Given the description of an element on the screen output the (x, y) to click on. 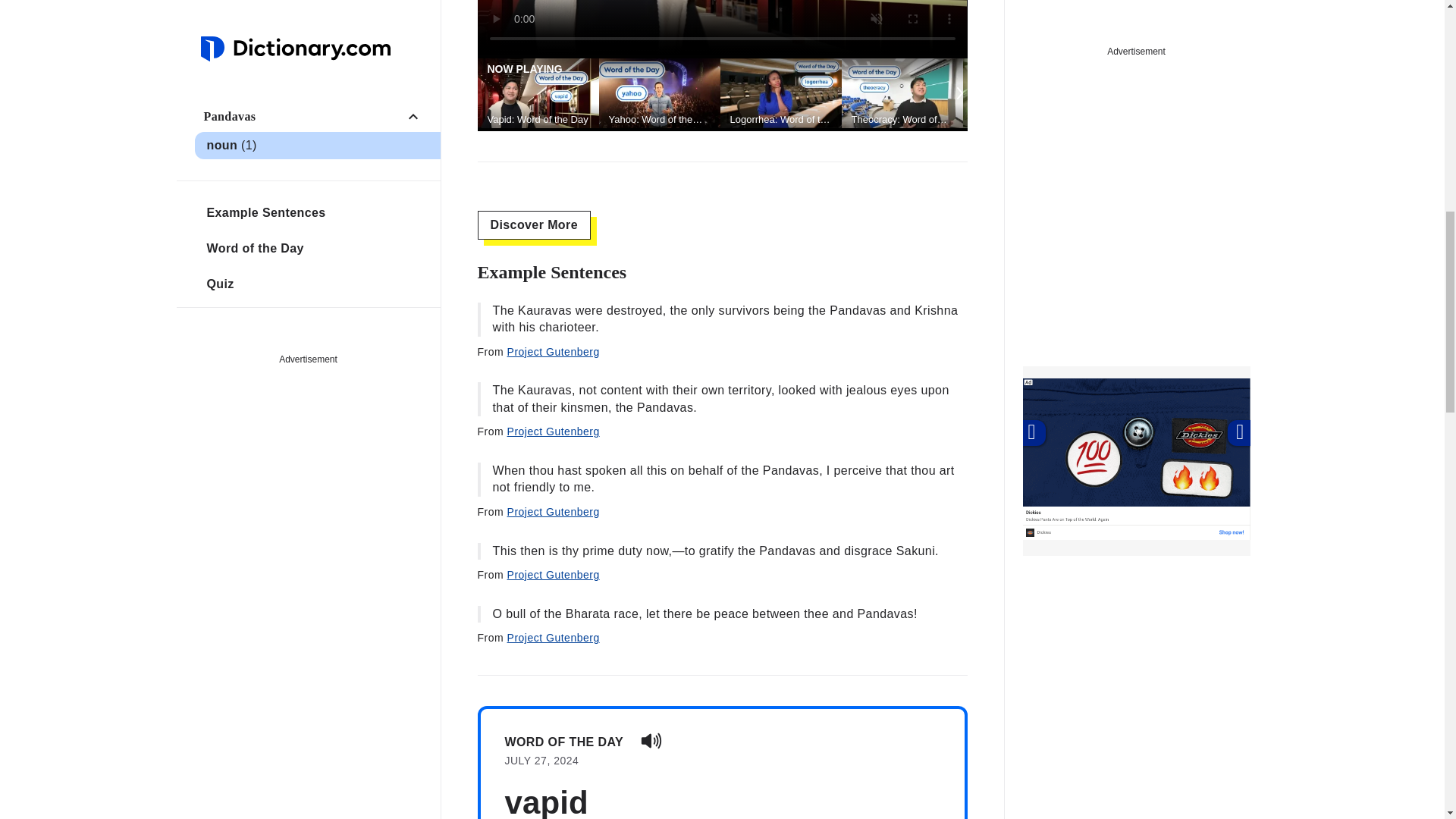
Logorrhea: Word of the Day (780, 119)
Yahoo: Word of the Day (659, 119)
Vapid: Word of the Day (537, 119)
Theocracy: Word of the Day (901, 119)
